Given the description of an element on the screen output the (x, y) to click on. 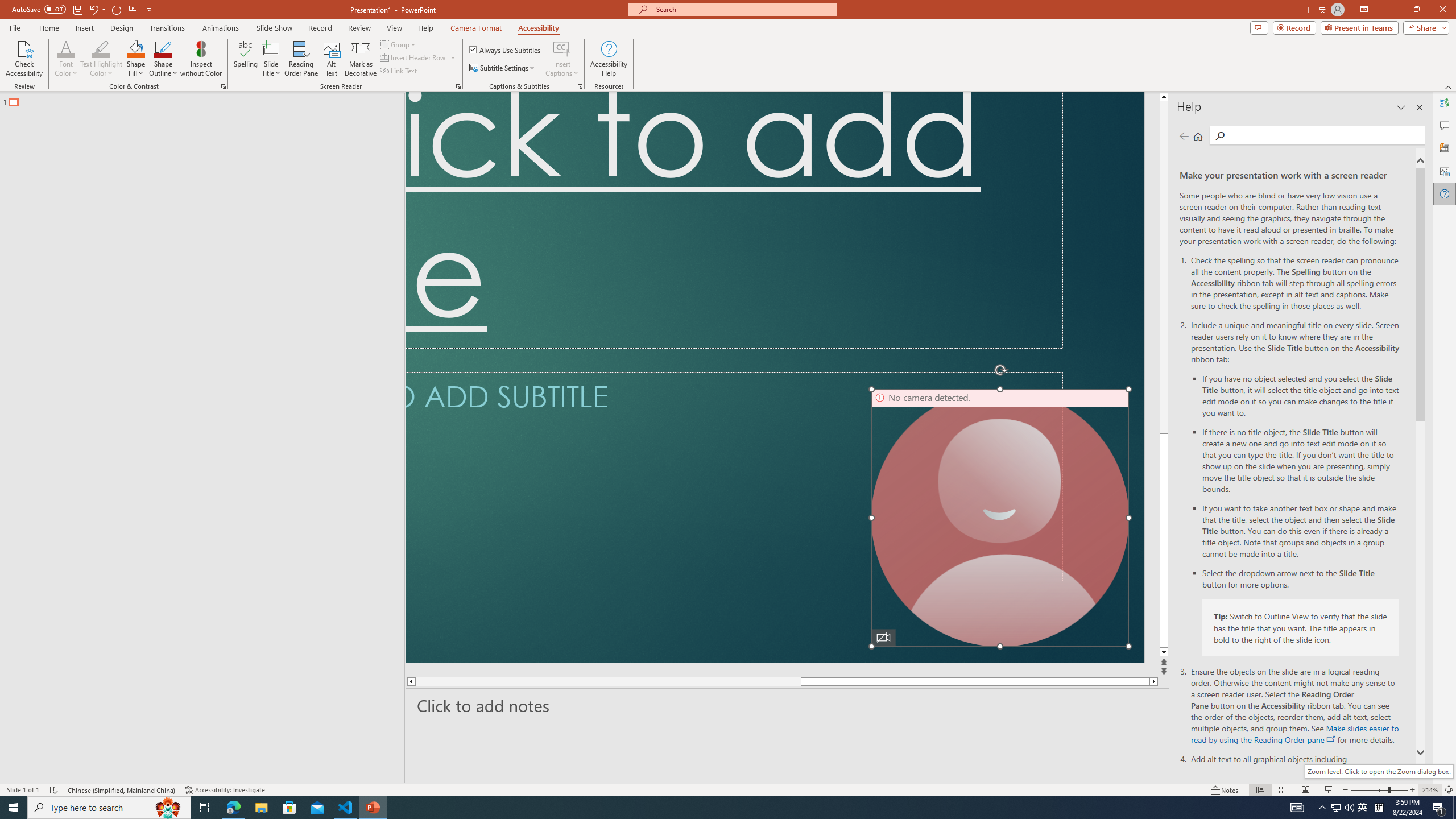
Previous page (1183, 136)
Alt Text (331, 58)
Spelling... (245, 58)
Zoom level. Click to open the Zoom dialog box. (1378, 771)
Mark as Decorative (360, 58)
Outline (207, 99)
